Given the description of an element on the screen output the (x, y) to click on. 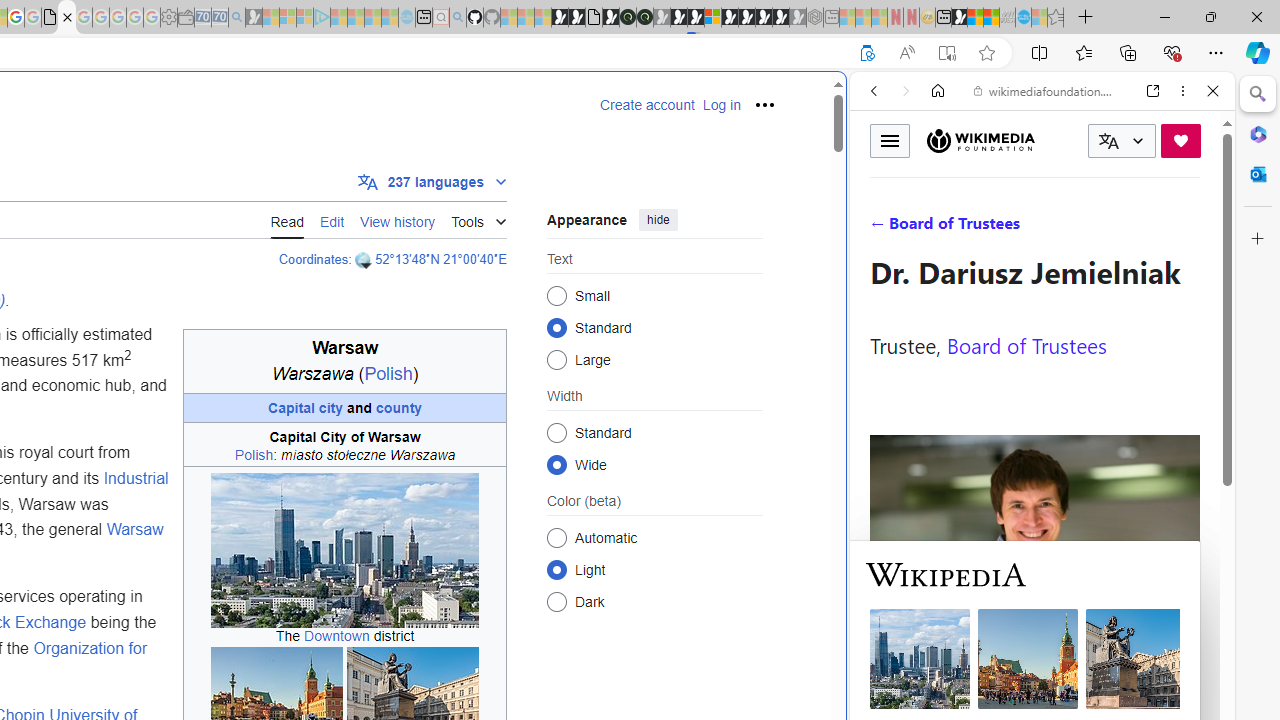
Tools (478, 218)
Read (287, 219)
View history (397, 219)
Close split screen (844, 102)
Create account (647, 105)
